Given the description of an element on the screen output the (x, y) to click on. 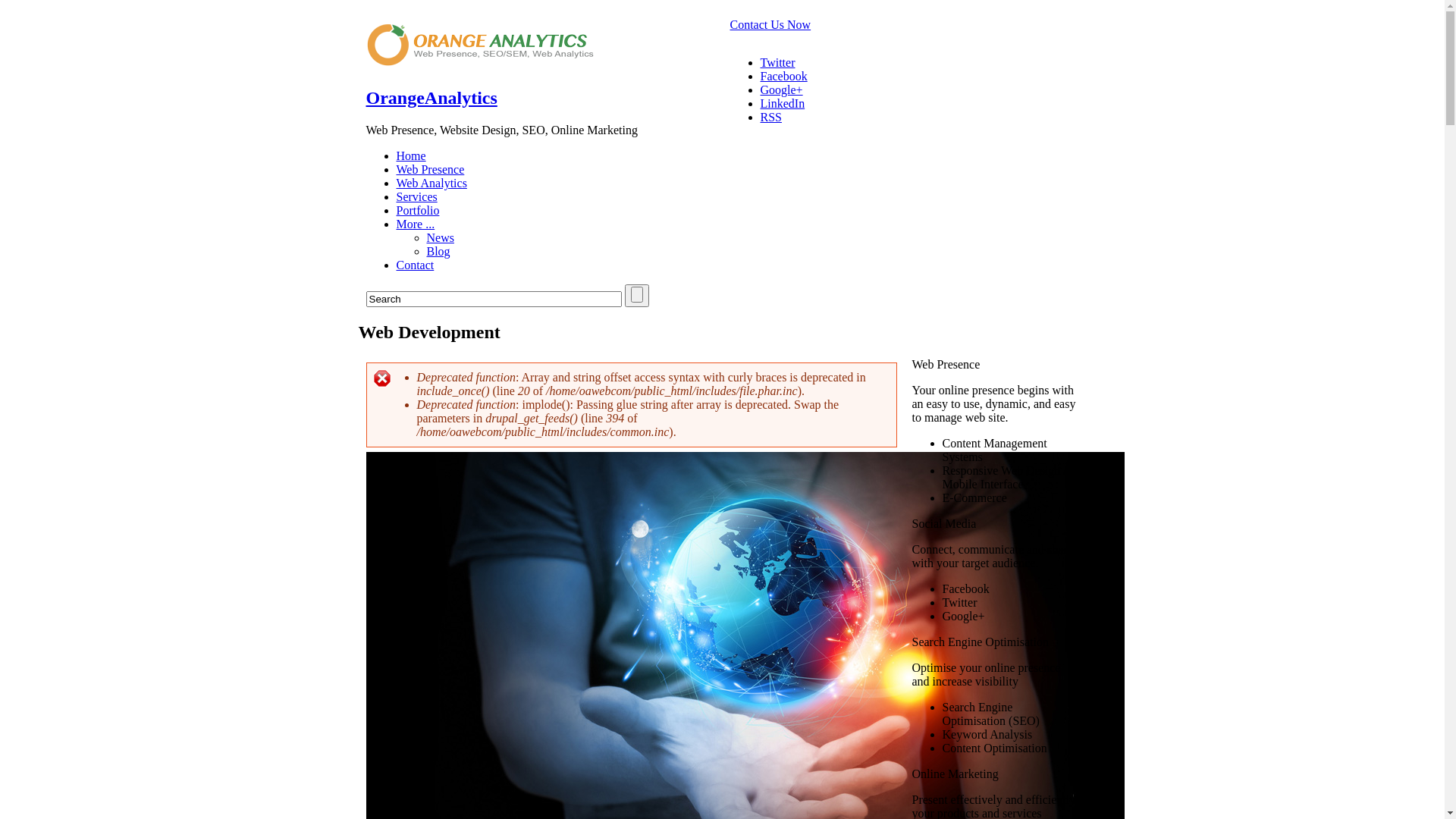
Web Analytics Element type: text (430, 182)
Home Element type: text (410, 155)
LinkedIn Element type: text (781, 103)
Blog Element type: text (437, 250)
More ... Element type: text (414, 223)
Twitter Element type: text (776, 62)
Portfolio Element type: text (417, 209)
OrangeAnalytics Element type: text (430, 97)
Enter the terms you wish to search for. Element type: hover (493, 299)
Facebook Element type: text (782, 75)
News Element type: text (439, 237)
Services Element type: text (415, 196)
RSS Element type: text (770, 116)
Contact Element type: text (414, 264)
Google+ Element type: text (780, 89)
Contact Us Now Element type: text (769, 24)
Web Presence Element type: text (429, 169)
Home Element type: hover (479, 62)
